Given the description of an element on the screen output the (x, y) to click on. 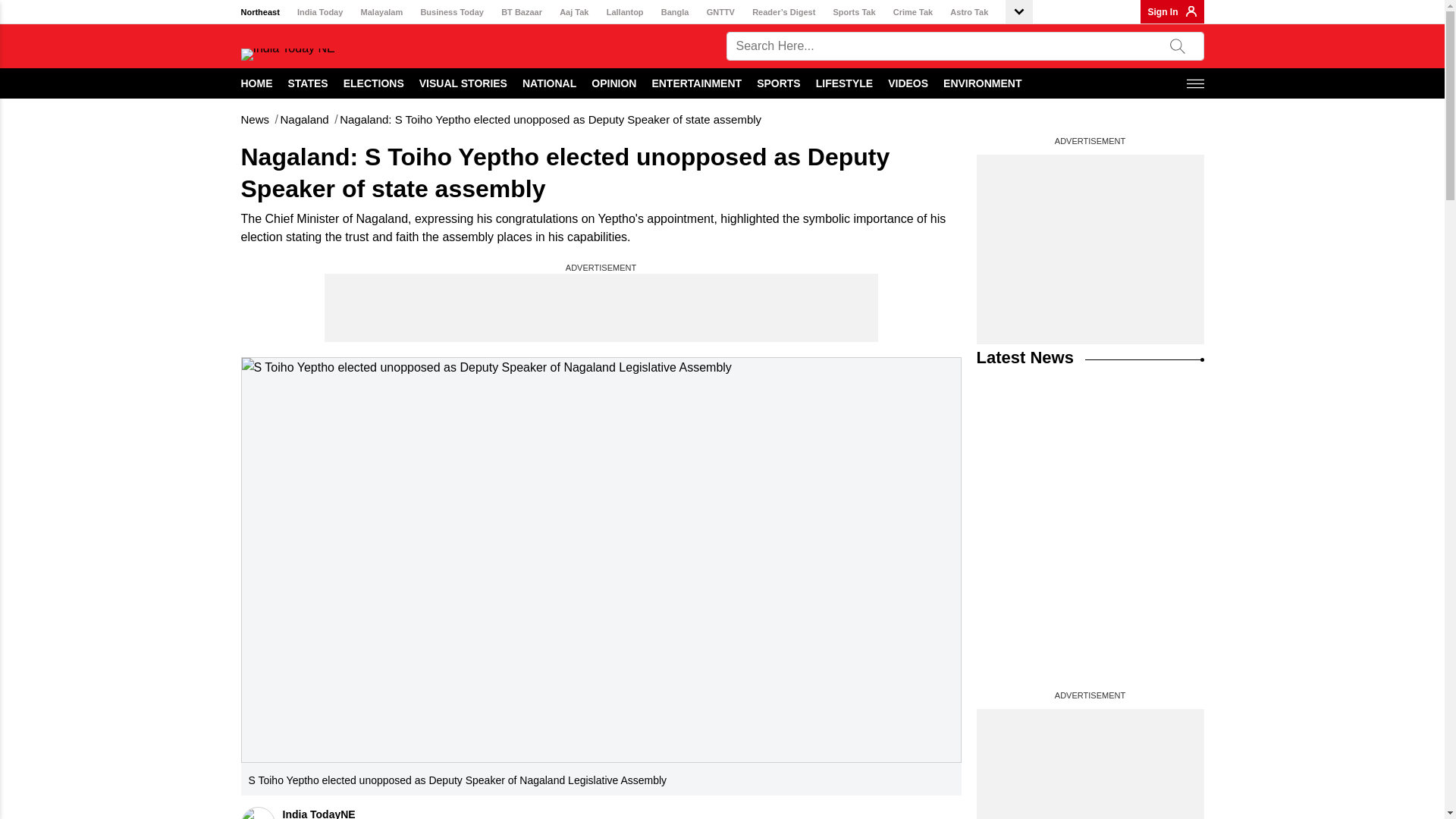
Crime Tak (913, 12)
ELECTIONS (373, 82)
Northeast (260, 12)
Malayalam (382, 12)
GNTTV (720, 12)
ENTERTAINMENT (695, 82)
VISUAL STORIES (462, 82)
NATIONAL (549, 82)
Astro Tak (969, 12)
Bangla (674, 12)
